Given the description of an element on the screen output the (x, y) to click on. 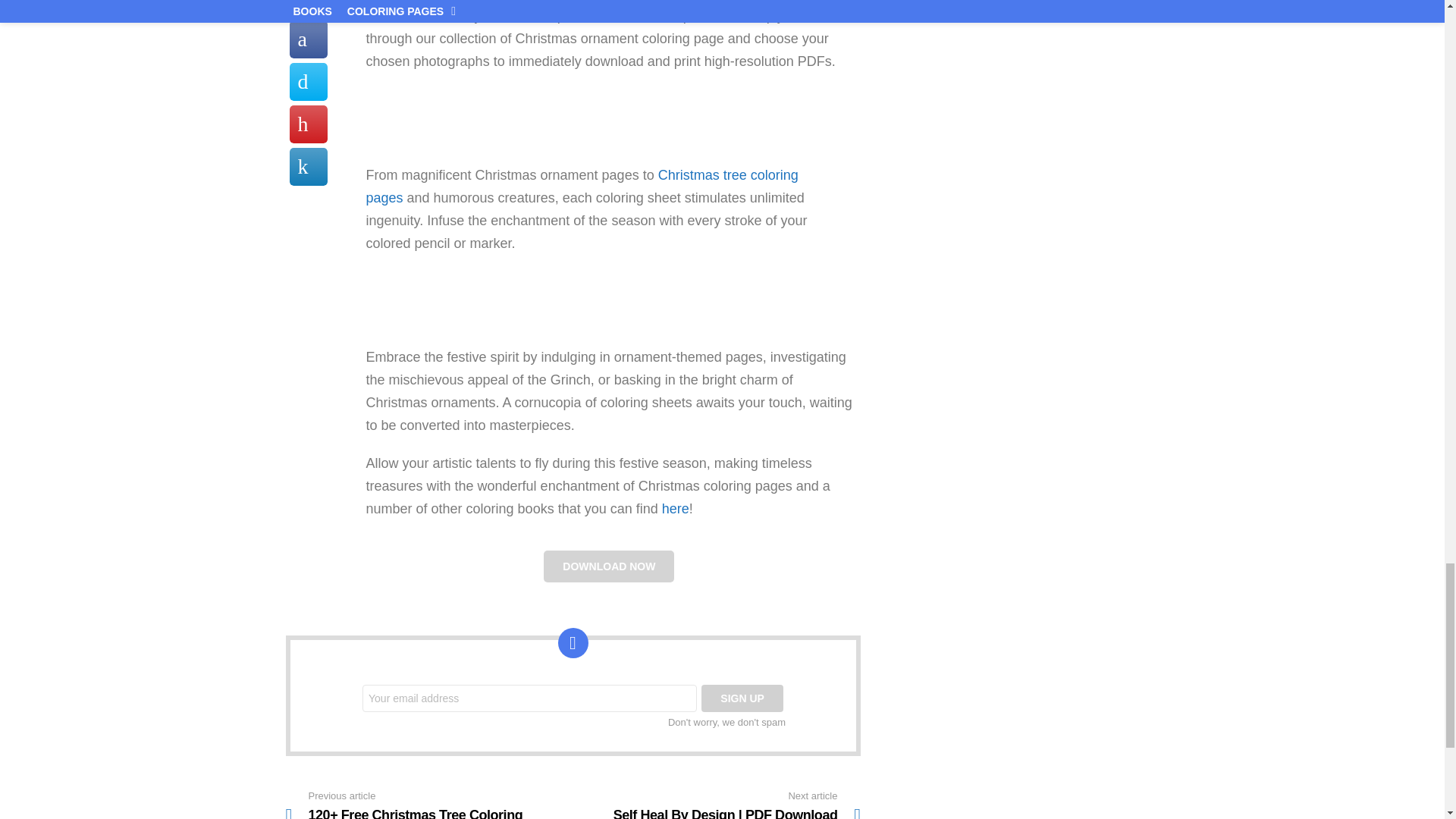
Christmas tree coloring pages (581, 186)
Sign up (742, 697)
here (675, 508)
